Given the description of an element on the screen output the (x, y) to click on. 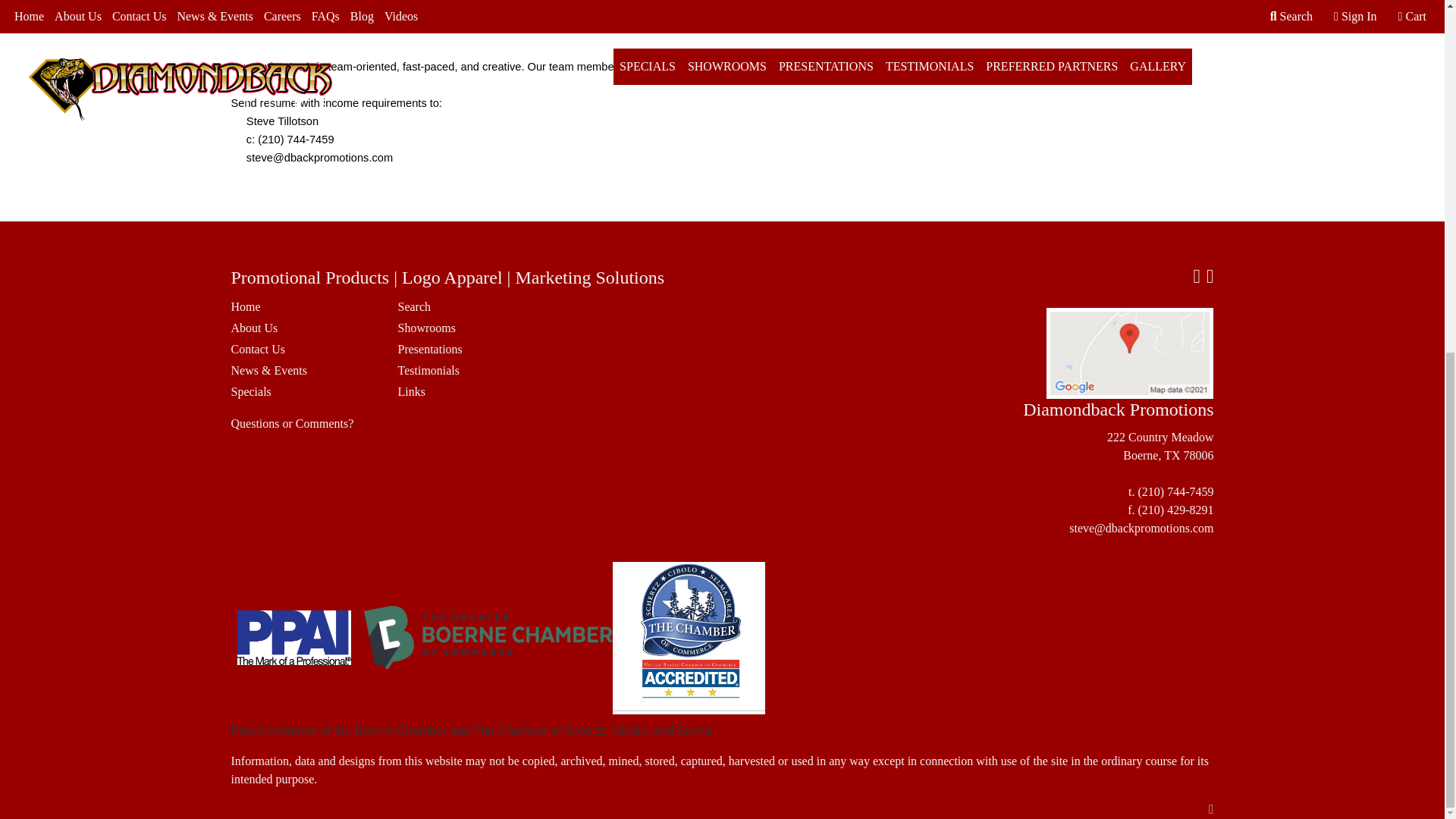
About Us (304, 328)
Contact Us (304, 349)
Click for a larger map (1129, 352)
Home (304, 306)
Visit us on LinkedIn (1210, 278)
Specials (304, 391)
Visit us on Facebook (1195, 278)
